Given the description of an element on the screen output the (x, y) to click on. 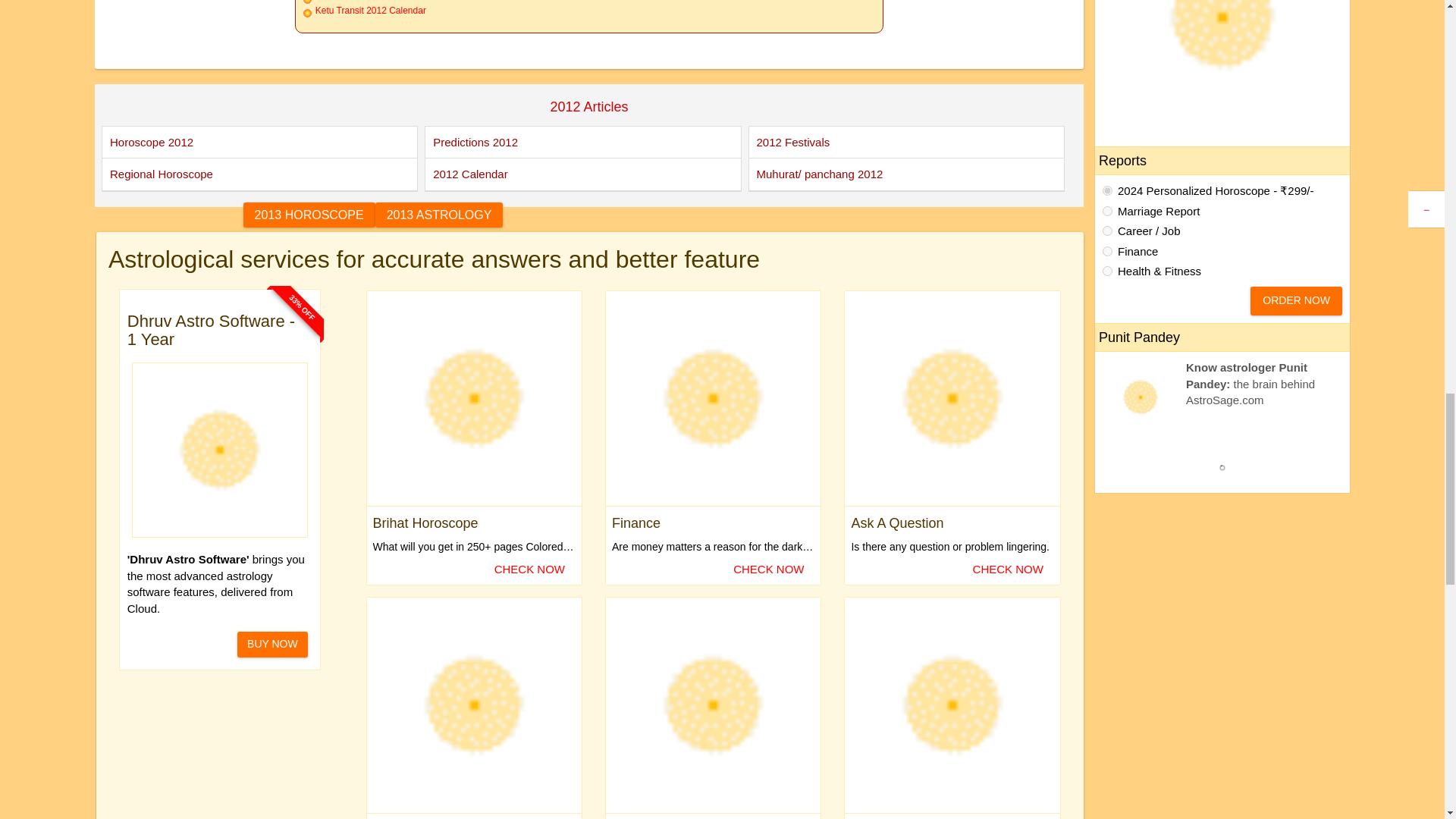
career-job-new2 (1107, 230)
health-fitness (1107, 271)
personalized-horoscope-2020 (1107, 190)
finance-new2 (1107, 251)
marriage-and-love-analysis-new2 (1107, 211)
